Given the description of an element on the screen output the (x, y) to click on. 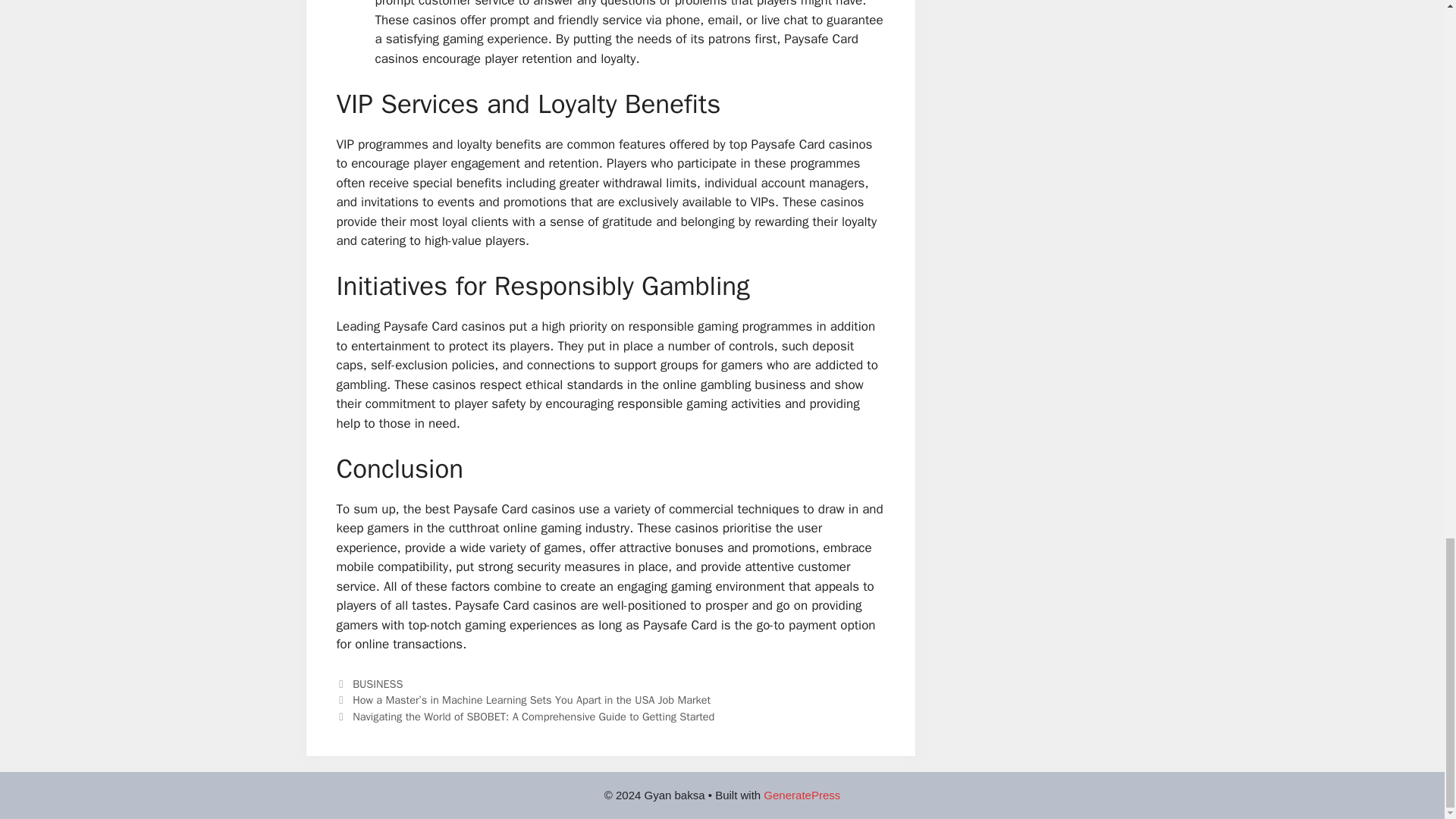
GeneratePress (801, 794)
BUSINESS (377, 684)
